Given the description of an element on the screen output the (x, y) to click on. 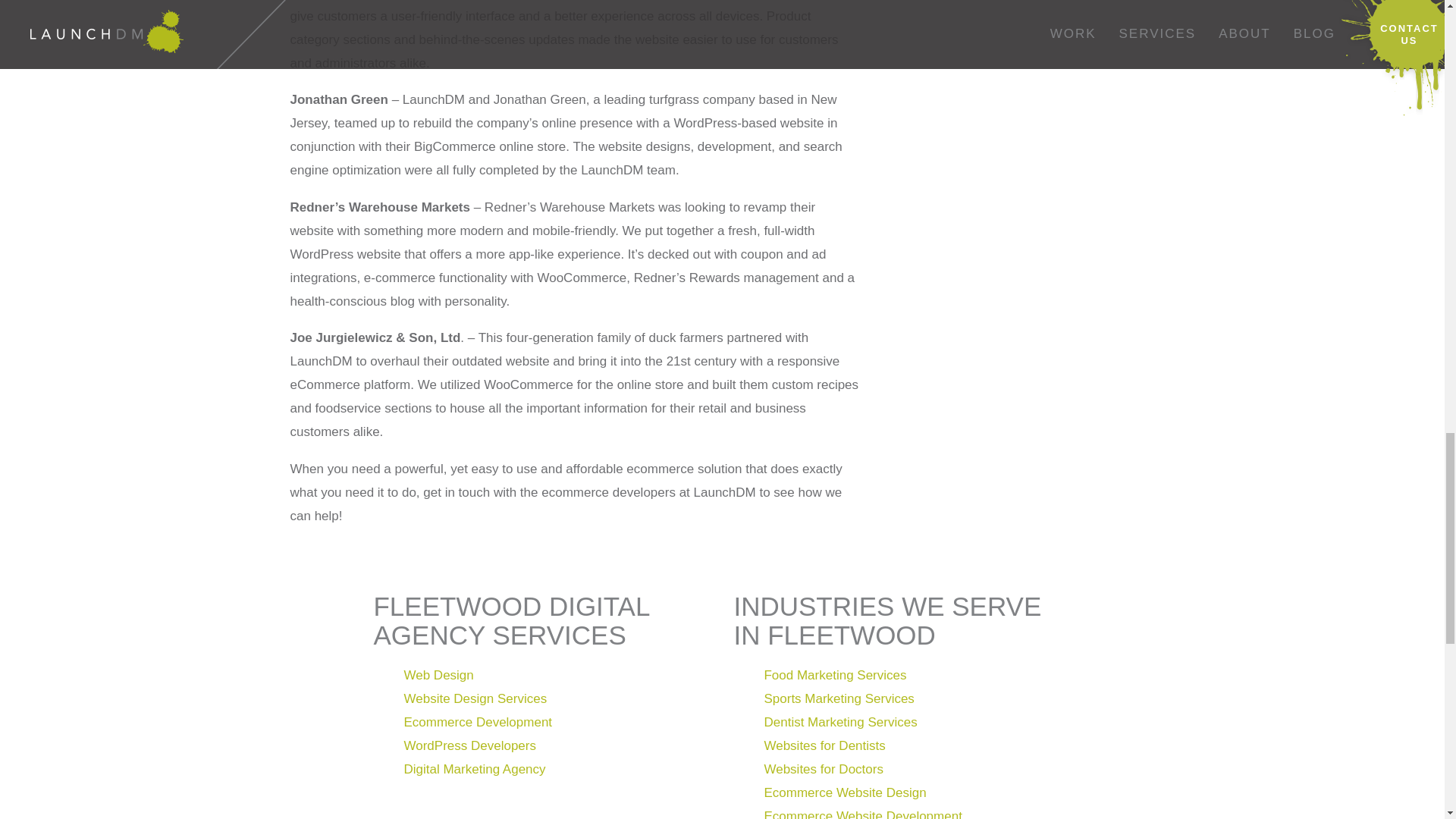
WordPress Developers (469, 745)
Websites for Dentists (823, 745)
Websites for Doctors   (825, 769)
Ecommerce Website Design (844, 792)
Food Marketing Services (833, 675)
Web Design (438, 675)
Website Design Services (475, 698)
Dentist Marketing Services (839, 721)
Ecommerce Website Development (861, 814)
Ecommerce Development (477, 721)
